Given the description of an element on the screen output the (x, y) to click on. 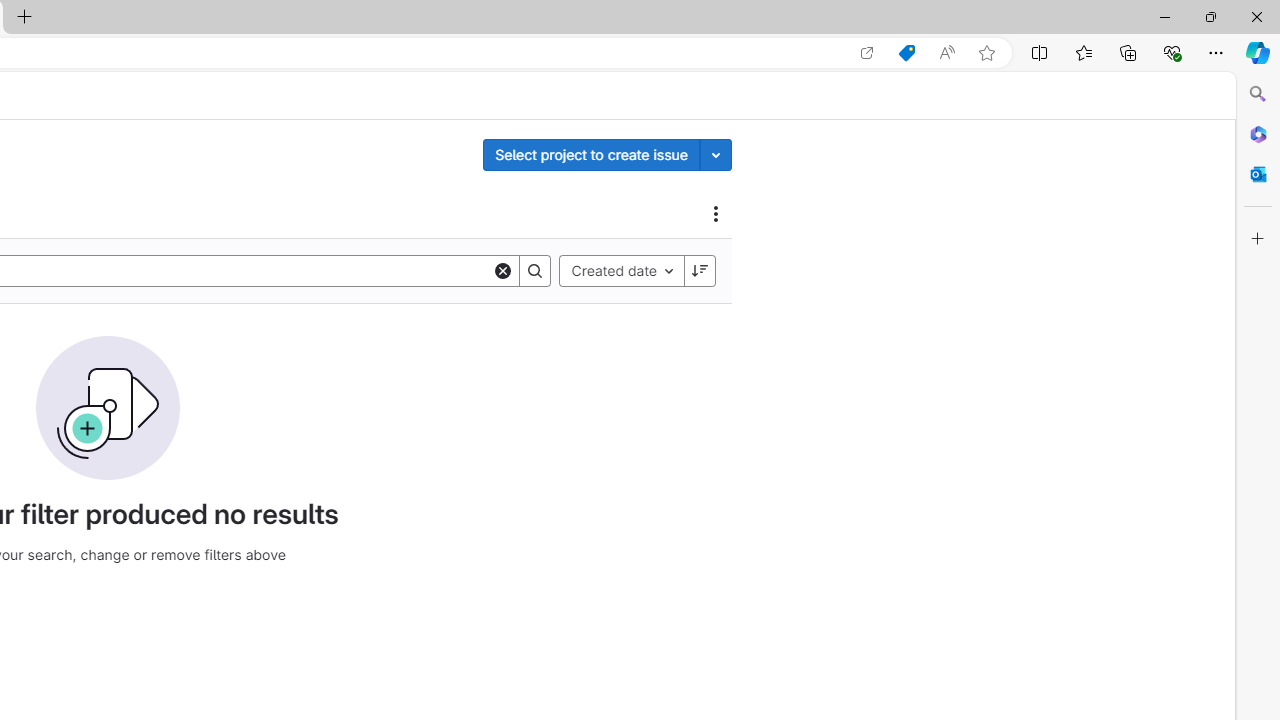
Toggle project select (716, 154)
Shopping in Microsoft Edge (906, 53)
Actions (716, 213)
Close Outlook pane (1258, 174)
Clear (503, 269)
Sort direction: Descending (699, 270)
Created date (621, 270)
